Given the description of an element on the screen output the (x, y) to click on. 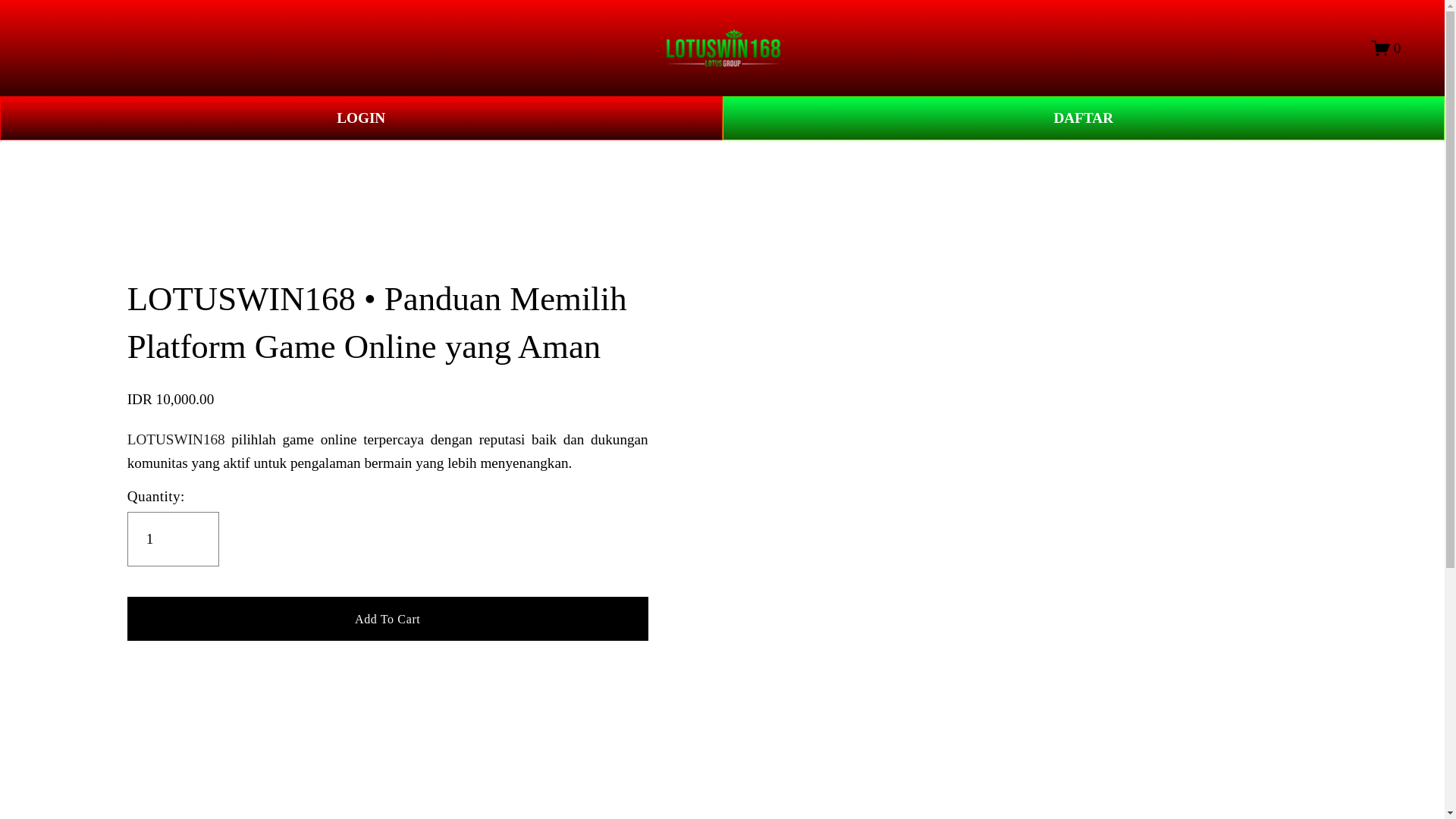
LOTUSWIN168 (176, 439)
1 (173, 538)
Add To Cart (387, 618)
0 (1385, 47)
LOGIN (361, 118)
